Given the description of an element on the screen output the (x, y) to click on. 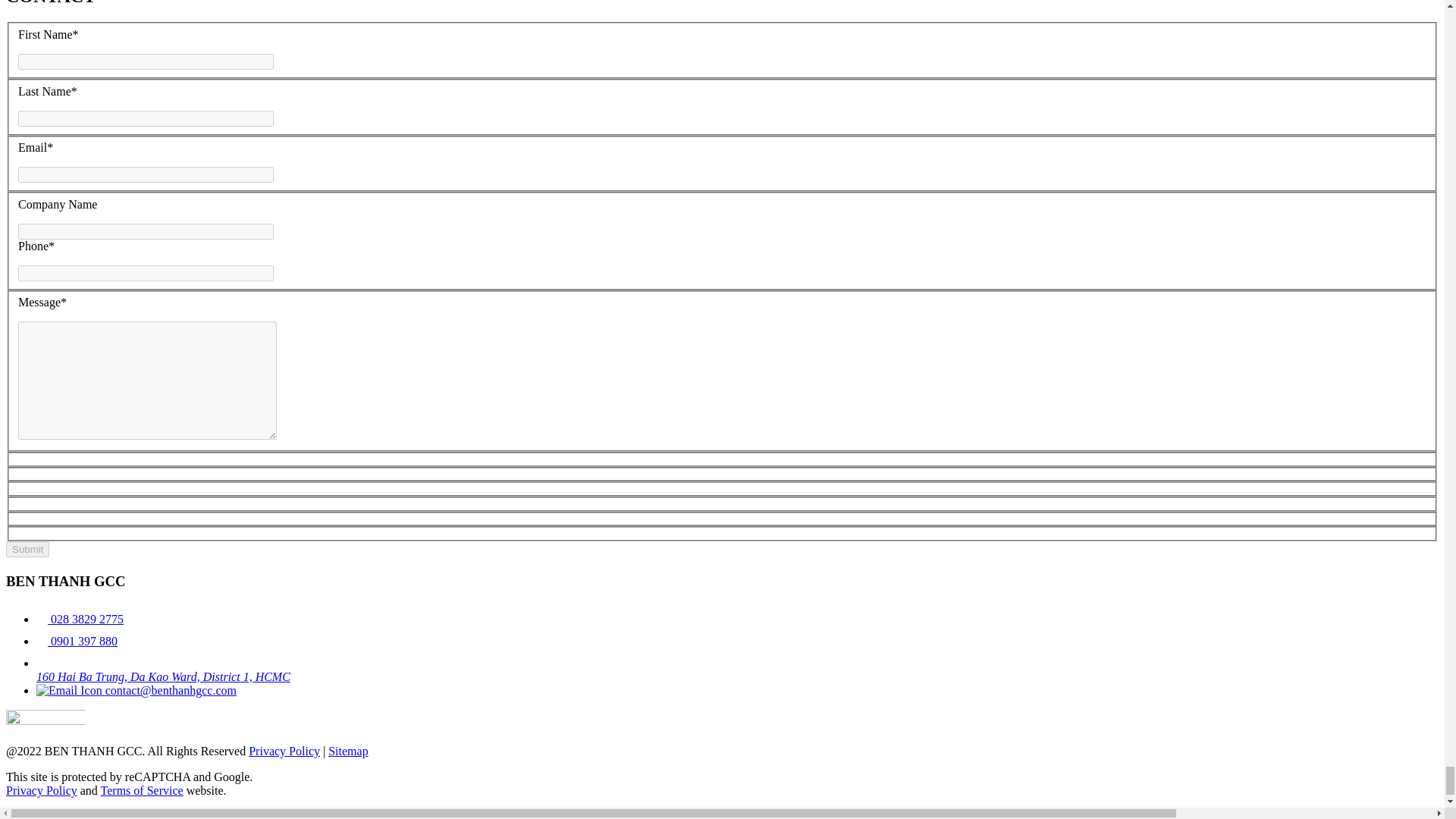
Privacy Policy (284, 750)
Submit (27, 549)
160 Hai Ba Trung, Da Kao Ward, District 1, HCMC (737, 669)
028 3829 2775 (79, 618)
028 3829 2775 (79, 618)
Terms of Service (141, 789)
0901 397 880 (76, 640)
Sitemap (348, 750)
Privacy Policy (41, 789)
Submit (27, 549)
